Given the description of an element on the screen output the (x, y) to click on. 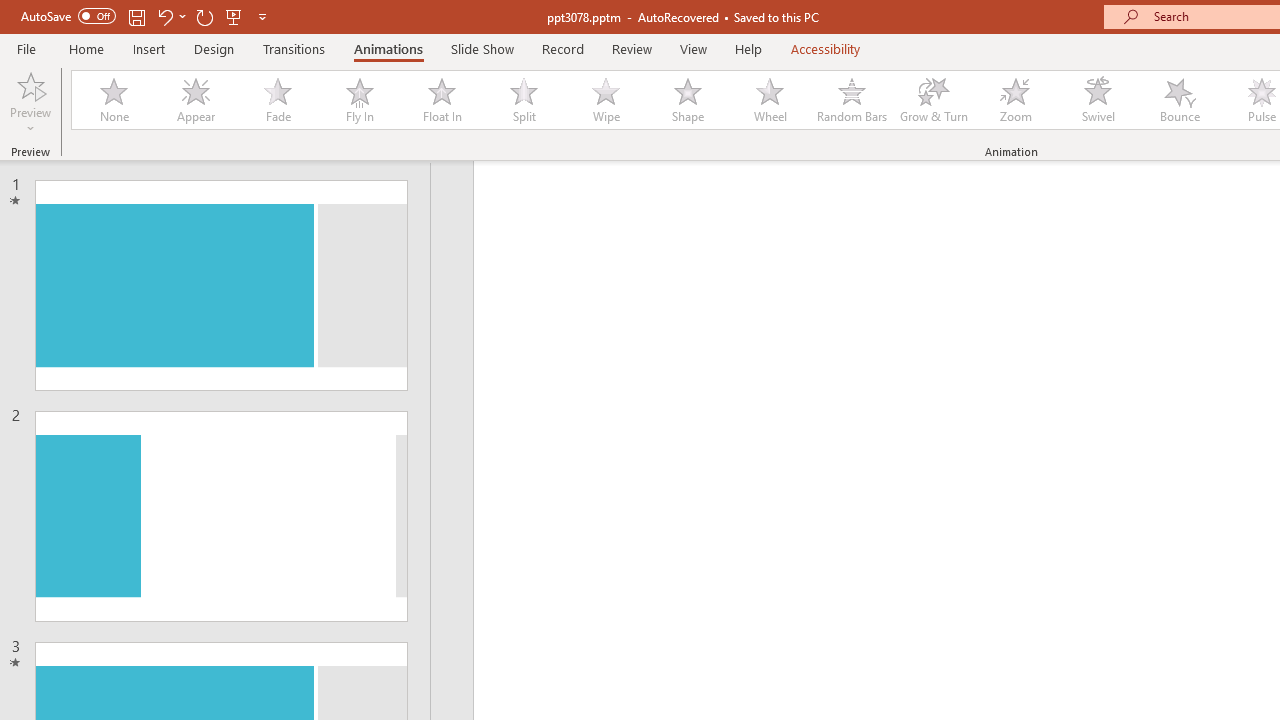
Bounce (1180, 100)
Appear (195, 100)
Fly In (359, 100)
